Given the description of an element on the screen output the (x, y) to click on. 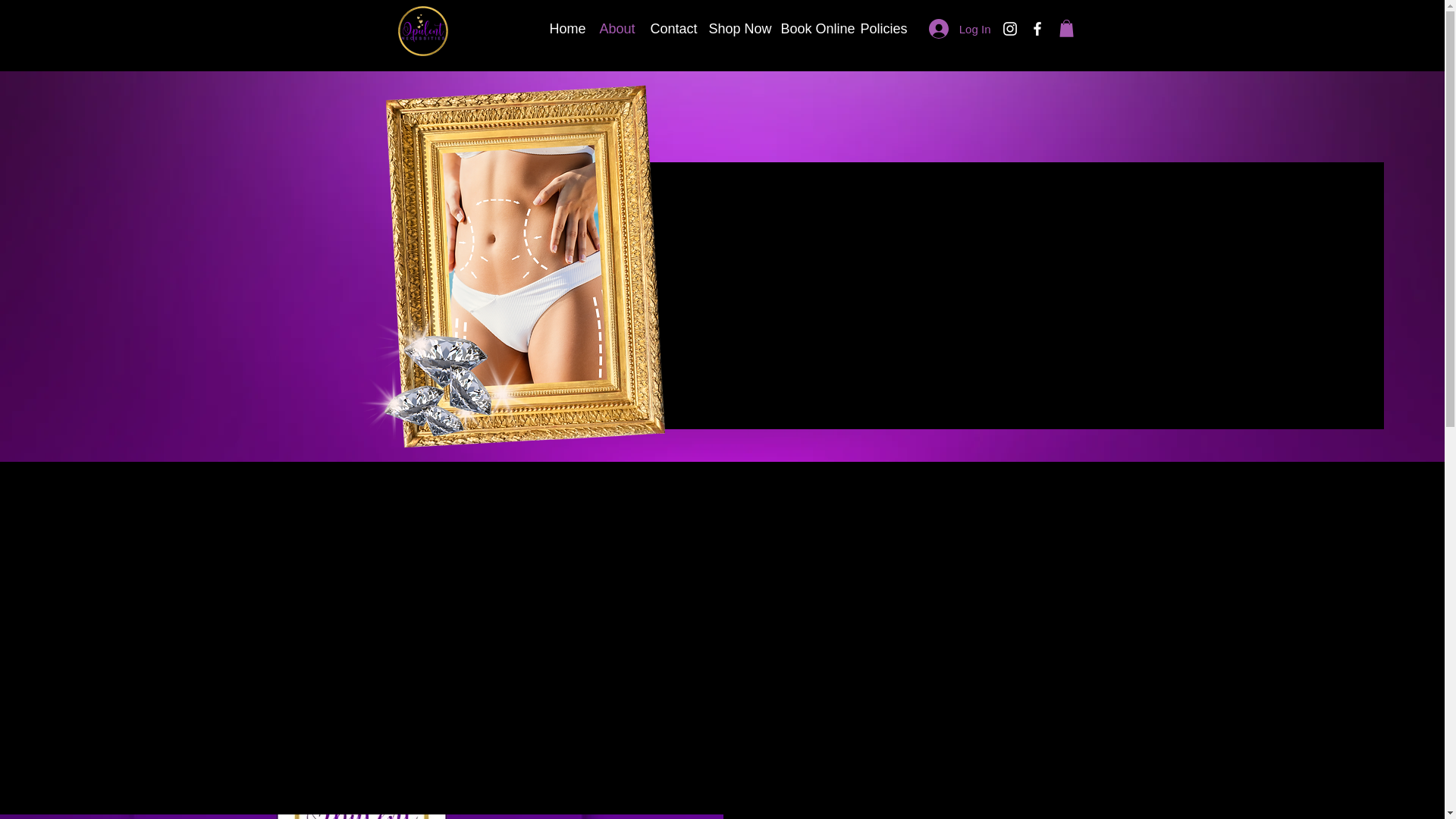
Contact (668, 28)
Shop Now (733, 28)
Book Online (808, 28)
About (613, 28)
Policies (877, 28)
Log In (959, 28)
Home (563, 28)
